Given the description of an element on the screen output the (x, y) to click on. 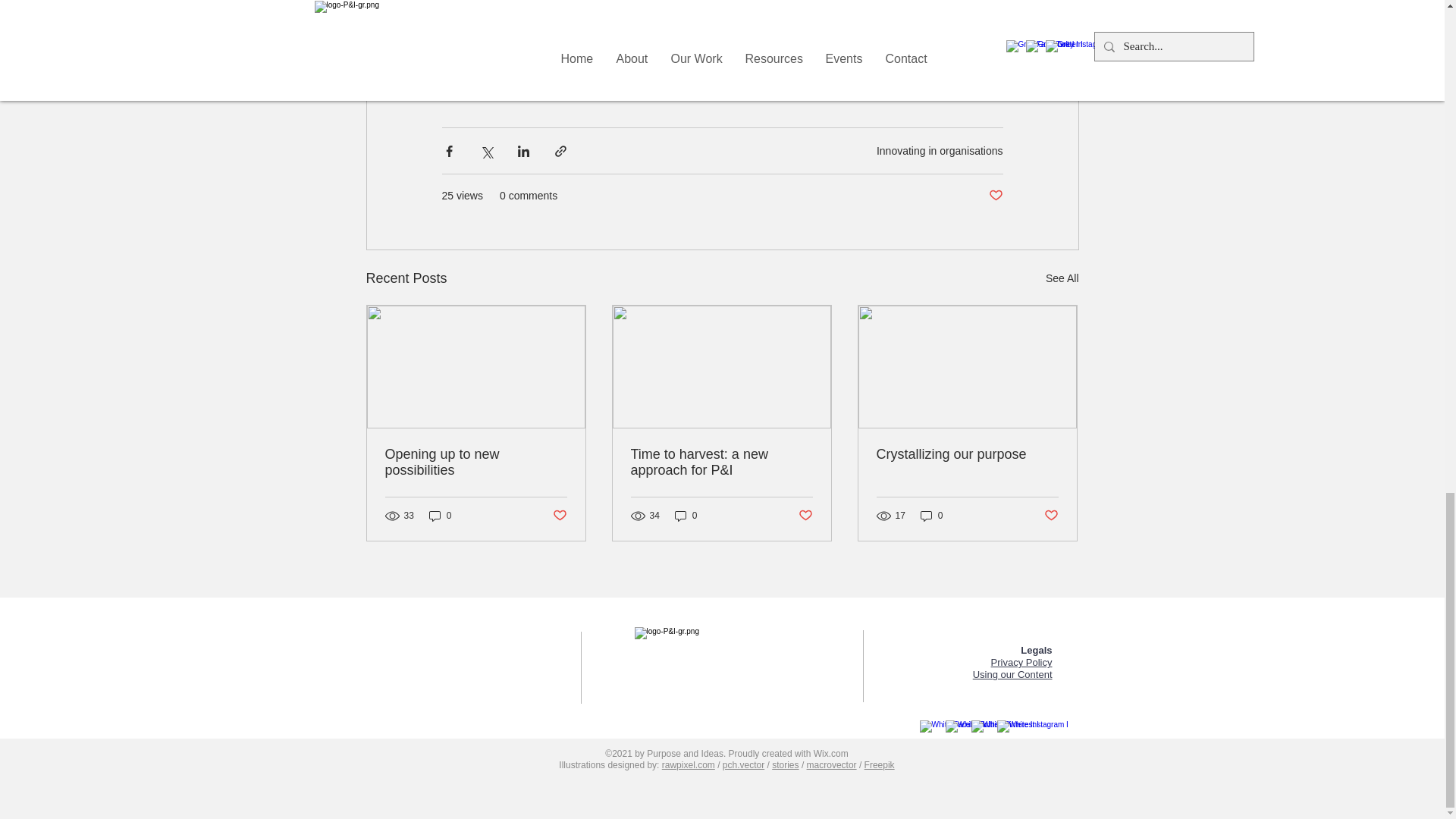
0 (440, 515)
Innovating in organisations (939, 150)
See All (1061, 278)
Post not marked as liked (558, 515)
Opening up to new possibilities (476, 462)
Post not marked as liked (995, 195)
